Given the description of an element on the screen output the (x, y) to click on. 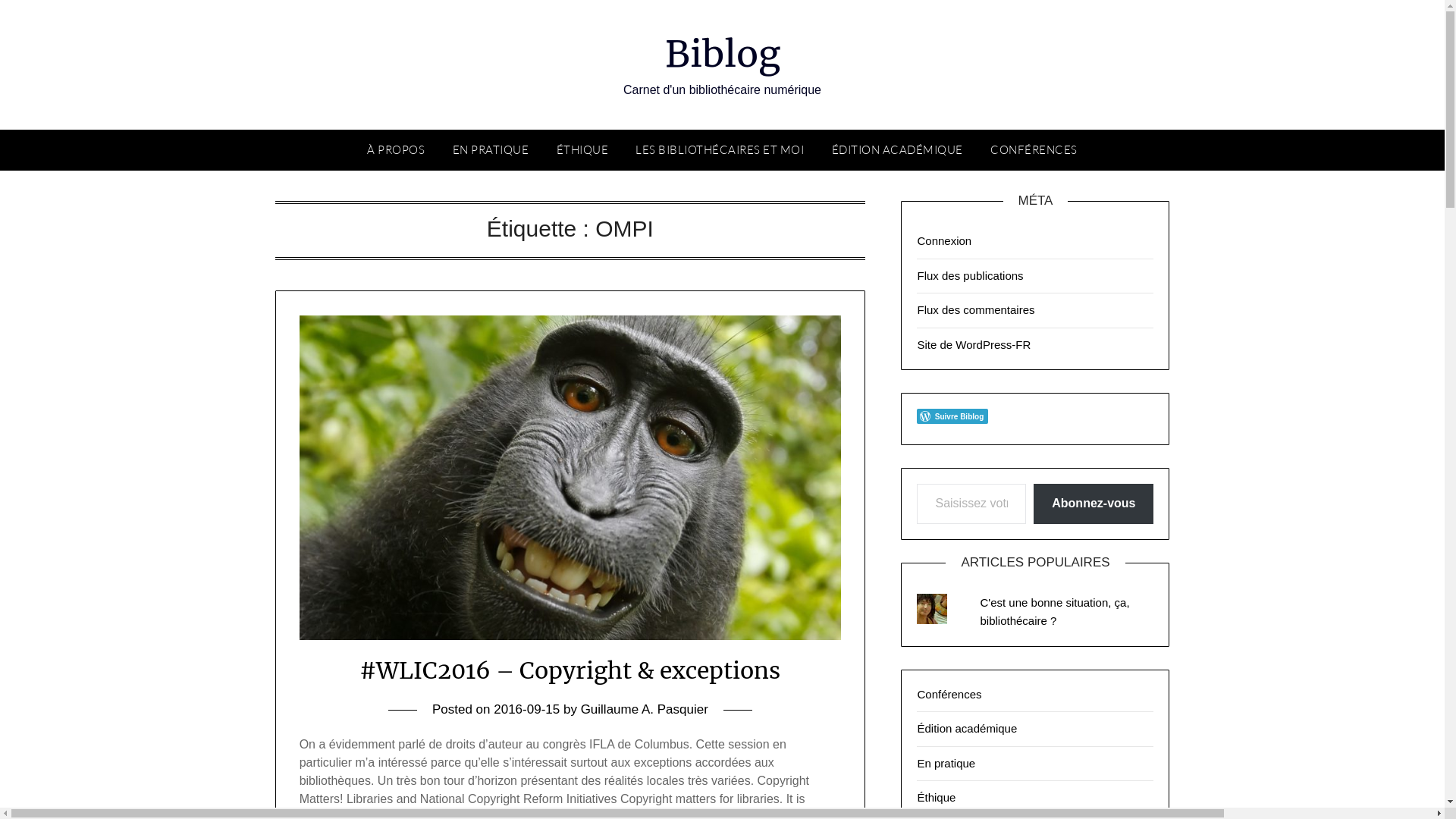
En pratique Element type: text (945, 762)
2016-09-15 Element type: text (526, 709)
Abonnez-vous Element type: text (1093, 503)
Follow Button Element type: hover (1034, 415)
Biblog Element type: text (721, 53)
Flux des publications Element type: text (969, 275)
EN PRATIQUE Element type: text (490, 149)
Guillaume A. Pasquier Element type: text (644, 709)
Flux des commentaires Element type: text (975, 309)
Connexion Element type: text (943, 240)
Site de WordPress-FR Element type: text (973, 344)
